Given the description of an element on the screen output the (x, y) to click on. 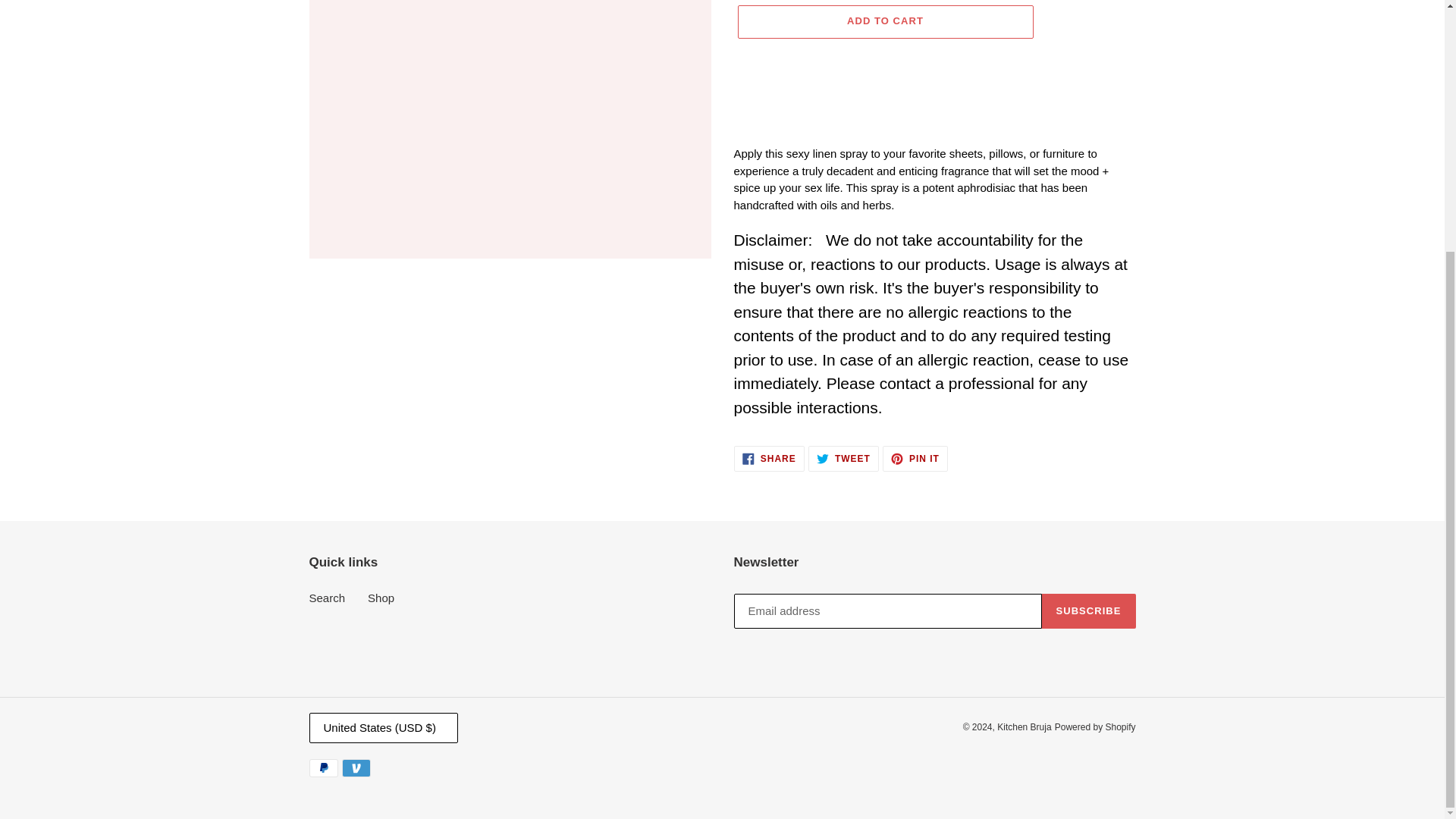
Search (327, 597)
Shop (381, 597)
ADD TO CART (884, 21)
SUBSCRIBE (843, 458)
